Given the description of an element on the screen output the (x, y) to click on. 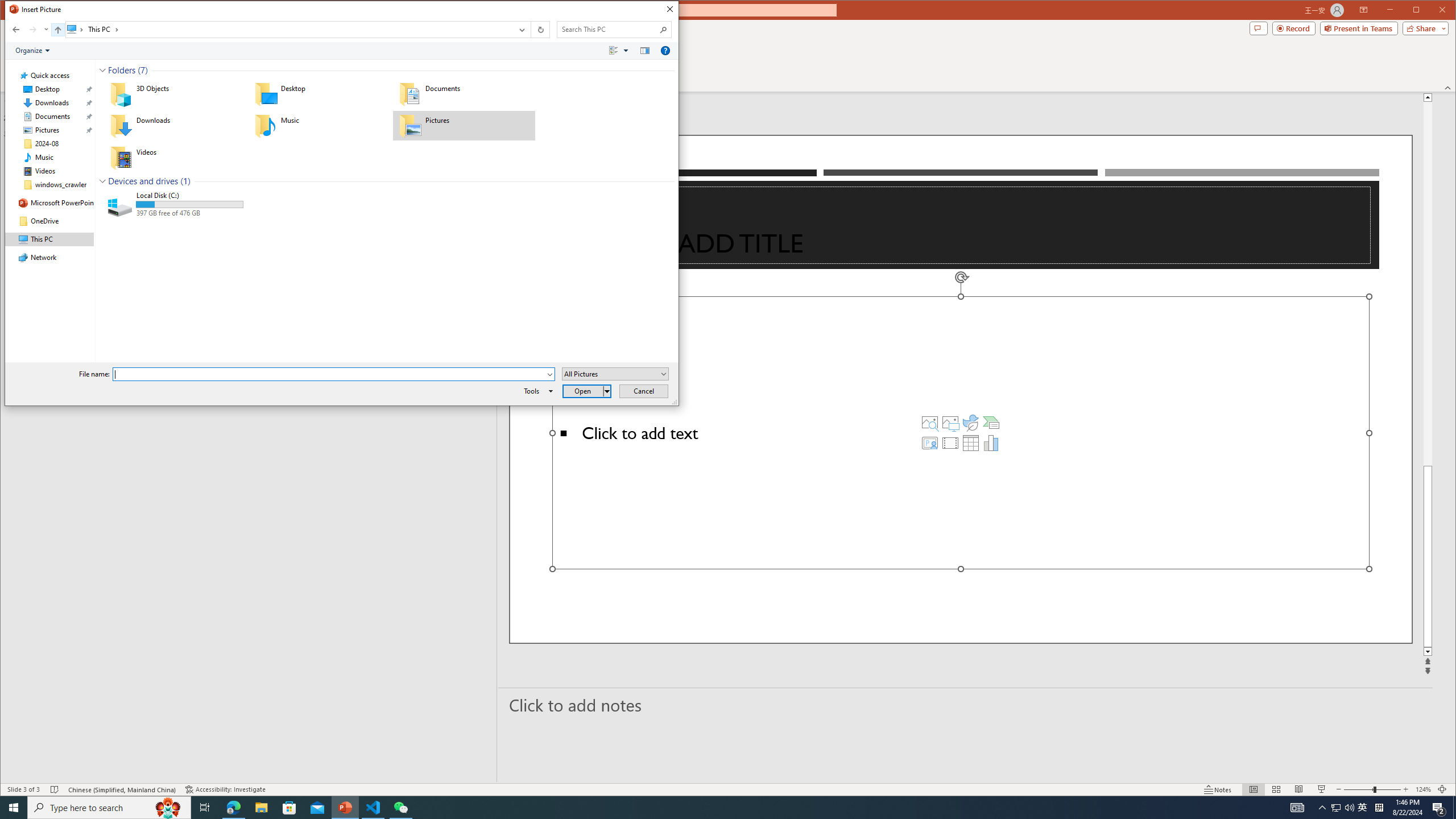
Cancel (643, 391)
View Slider (626, 50)
Views (621, 50)
Collapse Group (102, 180)
Preview pane (644, 50)
Up band toolbar (57, 31)
Insert Chart (991, 443)
Address band toolbar (530, 29)
